Given the description of an element on the screen output the (x, y) to click on. 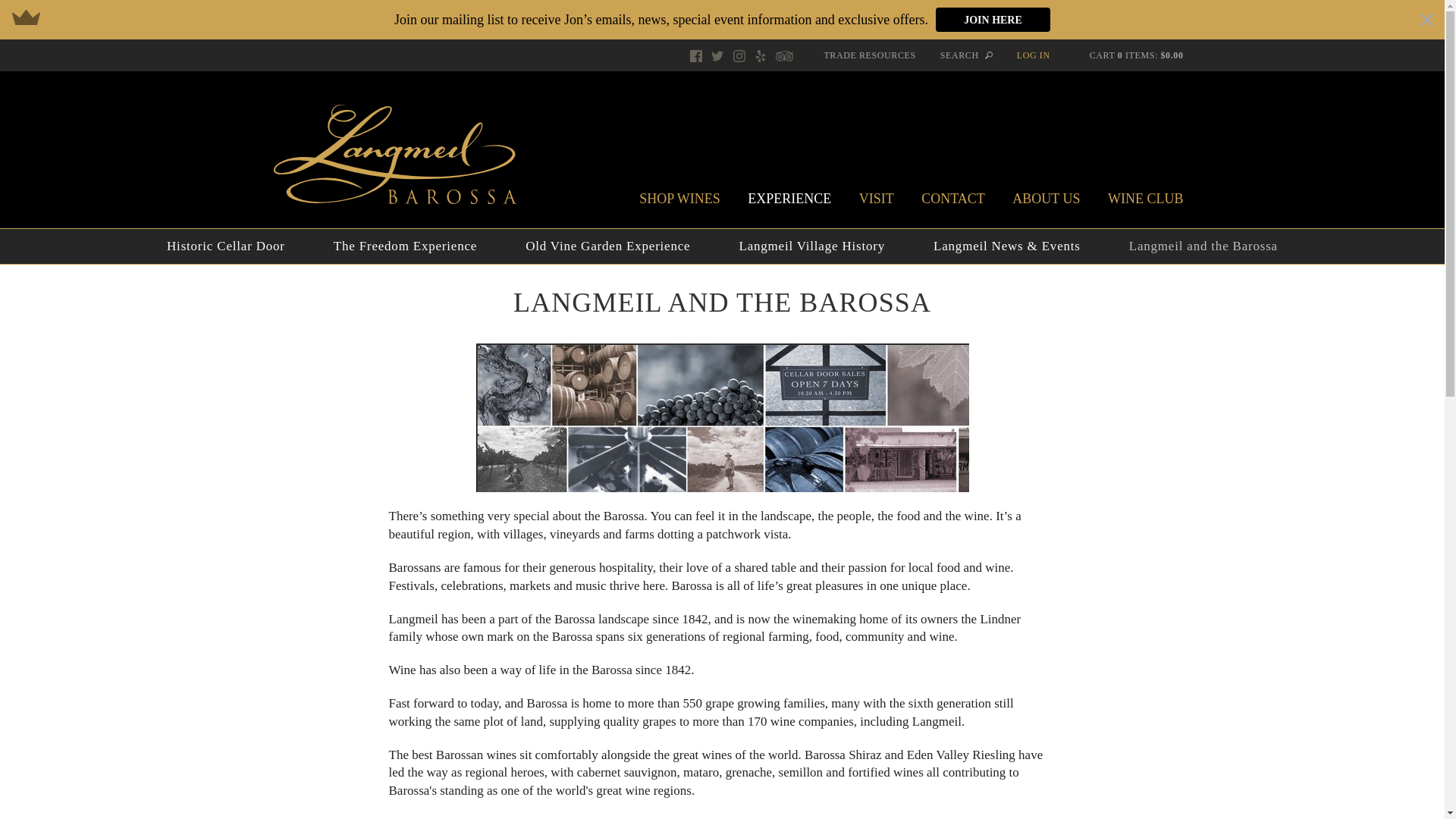
SHOP WINES (679, 198)
JOIN HERE (992, 19)
EXPERIENCE (789, 198)
VISIT (876, 198)
TRADE RESOURCES (869, 55)
LOG IN (1032, 54)
